Given the description of an element on the screen output the (x, y) to click on. 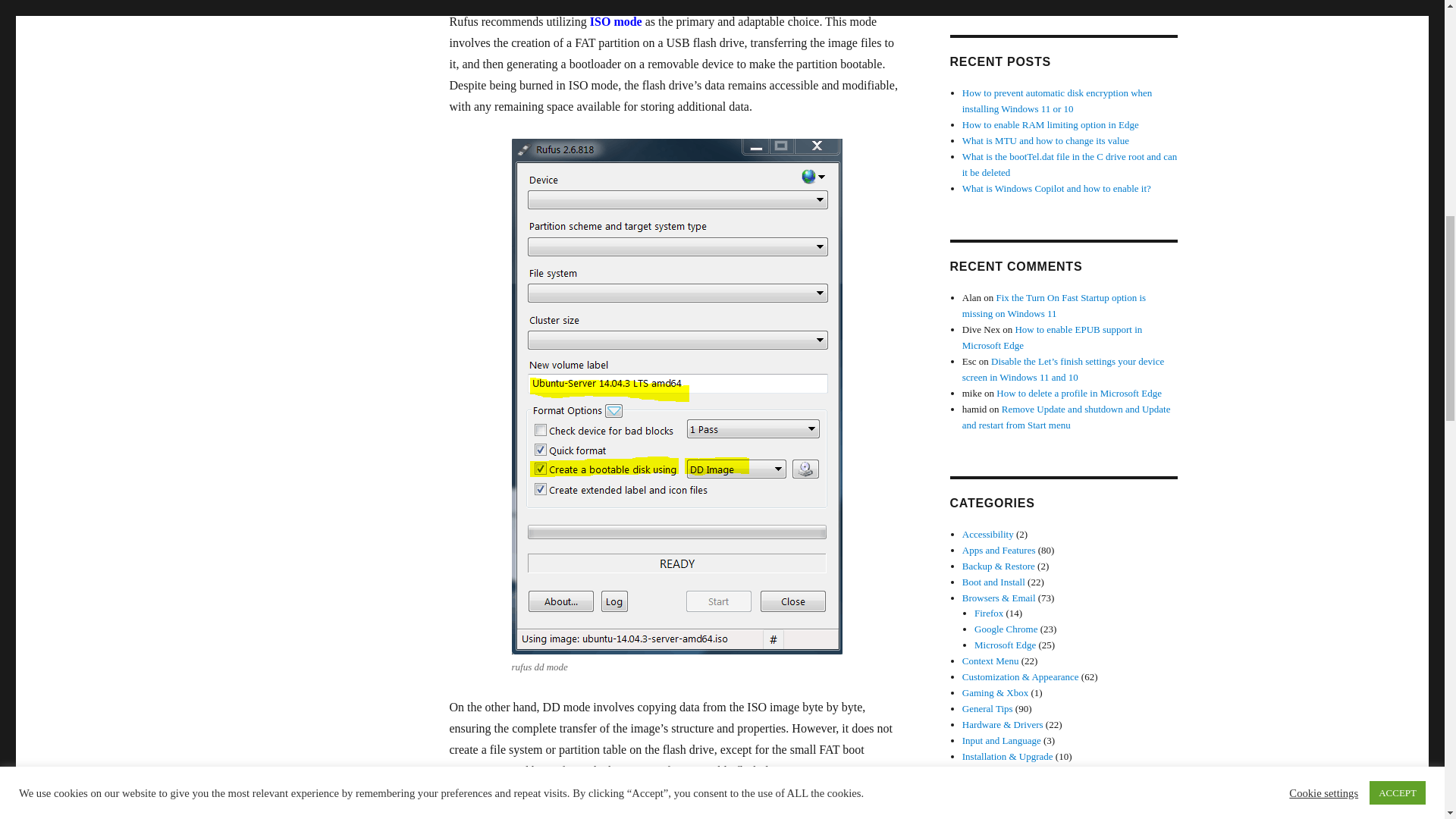
How to delete a profile in Microsoft Edge (1078, 392)
Fix the Turn On Fast Startup option is missing on Windows 11 (1053, 305)
What is MTU and how to change its value (1045, 140)
Accessibility (987, 533)
How to enable EPUB support in Microsoft Edge (1052, 337)
How to enable RAM limiting option in Edge (1050, 124)
What is Windows Copilot and how to enable it? (1056, 188)
Apps and Features (998, 550)
